Given the description of an element on the screen output the (x, y) to click on. 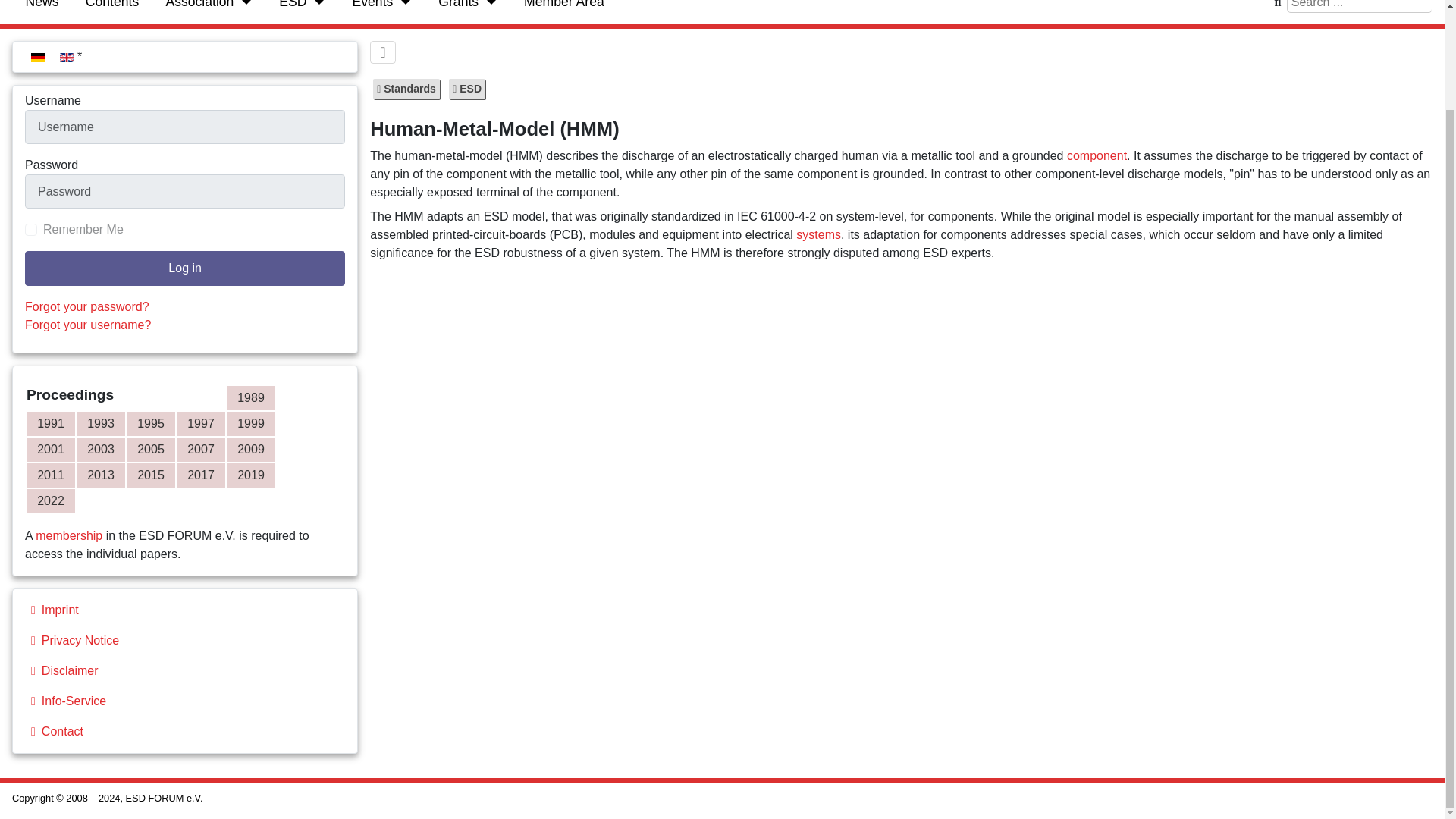
ESD News (42, 5)
Contents (111, 5)
News (42, 5)
Table of Contents (111, 5)
Member Area (564, 5)
ESD (292, 5)
ESD Events (372, 5)
1995 (150, 423)
1991 (50, 423)
Events (372, 5)
